Given the description of an element on the screen output the (x, y) to click on. 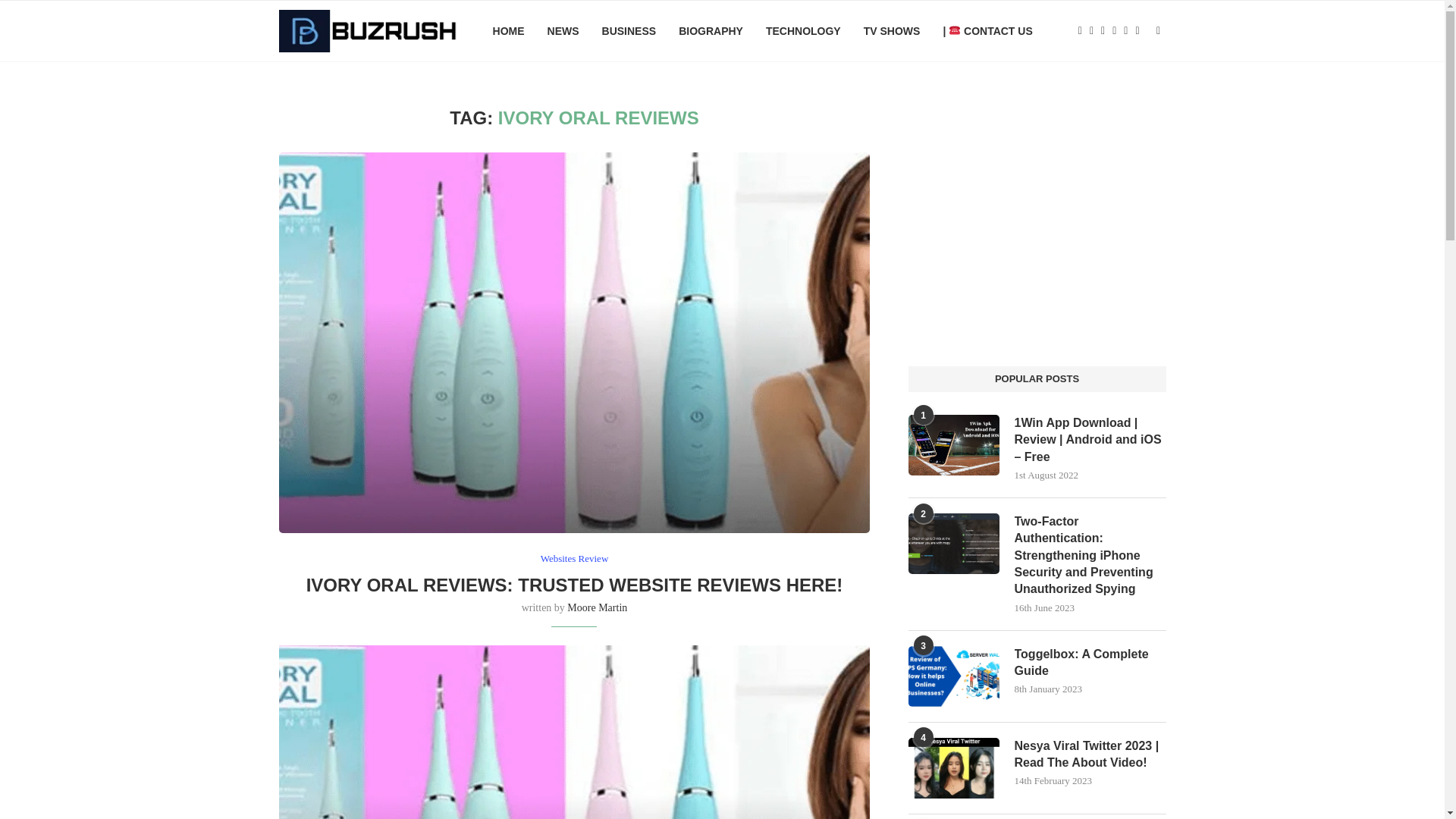
TV SHOWS (891, 30)
Toggelbox: A Complete Guide (1090, 663)
Moore Martin (597, 607)
BUSINESS (629, 30)
Toggelbox: A Complete Guide (1090, 663)
BIOGRAPHY (710, 30)
TECHNOLOGY (803, 30)
